Given the description of an element on the screen output the (x, y) to click on. 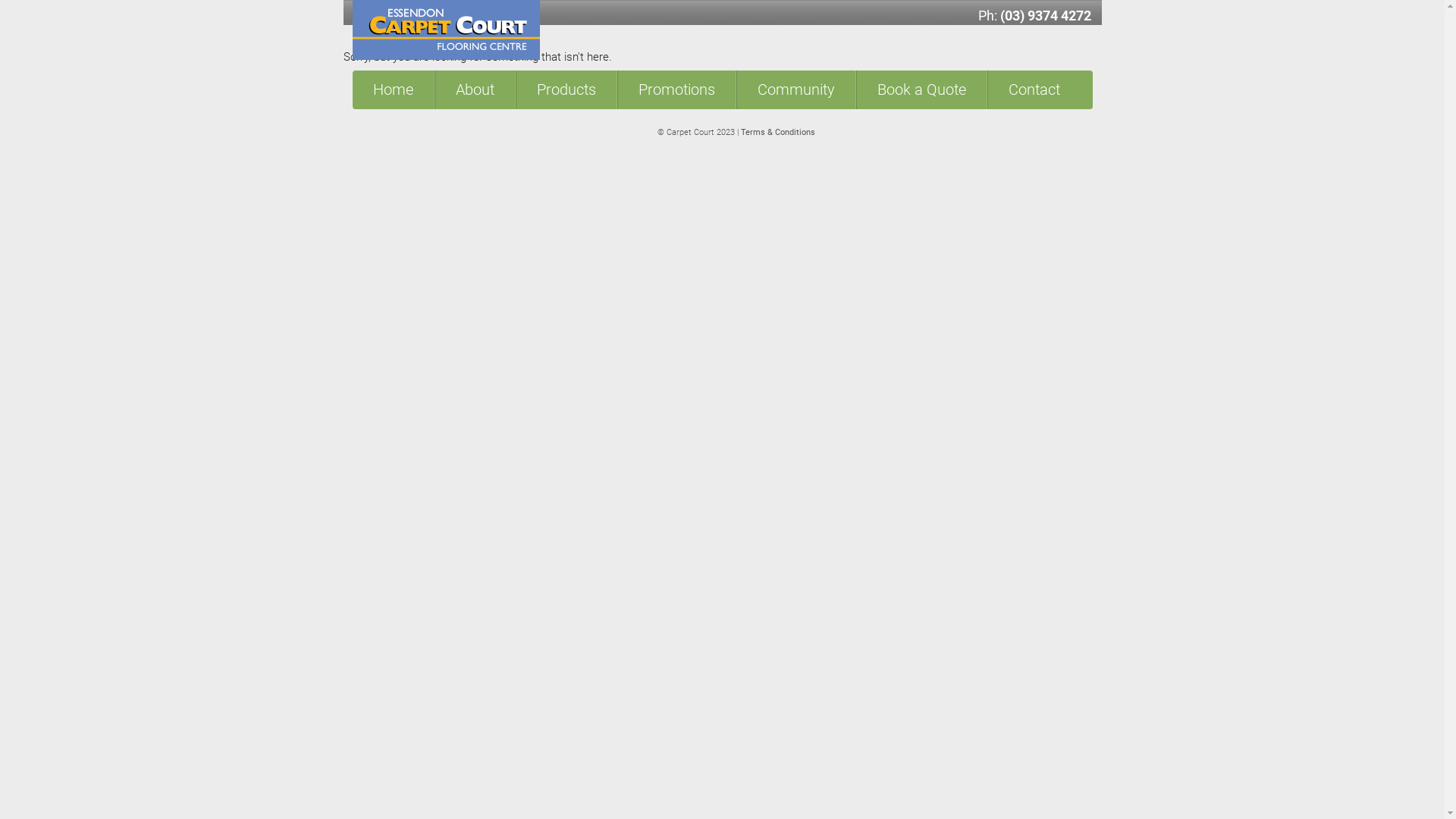
Contact Element type: text (1033, 89)
Terms & Conditions Element type: text (777, 132)
Book a Quote Element type: text (920, 89)
About Element type: text (473, 89)
Products Element type: text (565, 89)
Home Element type: text (392, 89)
Community Element type: text (794, 89)
Promotions Element type: text (676, 89)
www.carpetcourt.com.au Element type: text (946, 101)
